Given the description of an element on the screen output the (x, y) to click on. 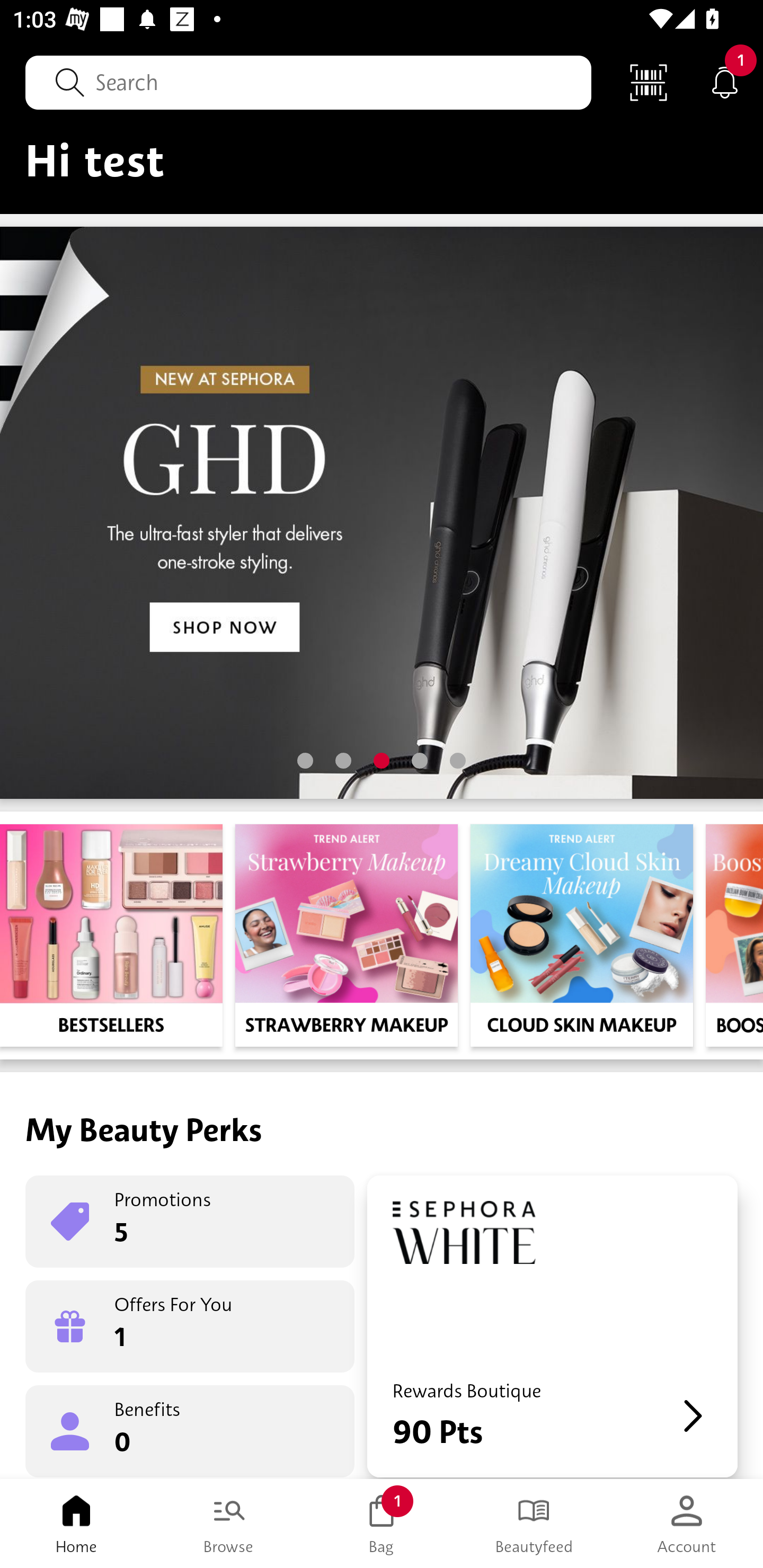
Scan Code (648, 81)
Notifications (724, 81)
Search (308, 81)
Promotions 5 (189, 1221)
Rewards Boutique 90 Pts (552, 1326)
Offers For You 1 (189, 1326)
Benefits 0 (189, 1430)
Browse (228, 1523)
Bag 1 Bag (381, 1523)
Beautyfeed (533, 1523)
Account (686, 1523)
